Given the description of an element on the screen output the (x, y) to click on. 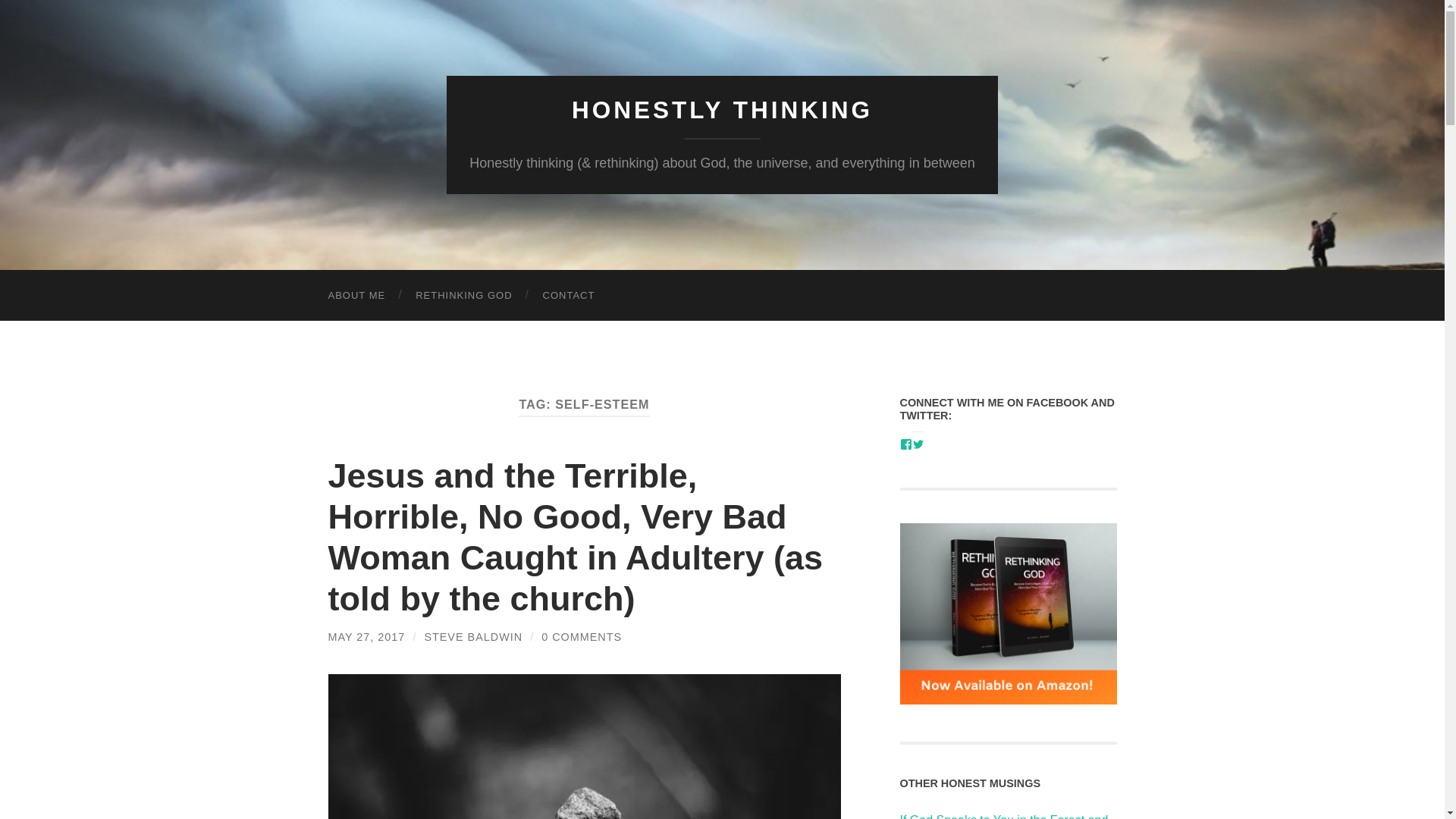
RETHINKING GOD (463, 295)
STEVE BALDWIN (472, 636)
0 COMMENTS (581, 636)
ABOUT ME (356, 295)
HONESTLY THINKING (722, 109)
CONTACT (568, 295)
MAY 27, 2017 (365, 636)
Posts by Steve Baldwin (472, 636)
